Given the description of an element on the screen output the (x, y) to click on. 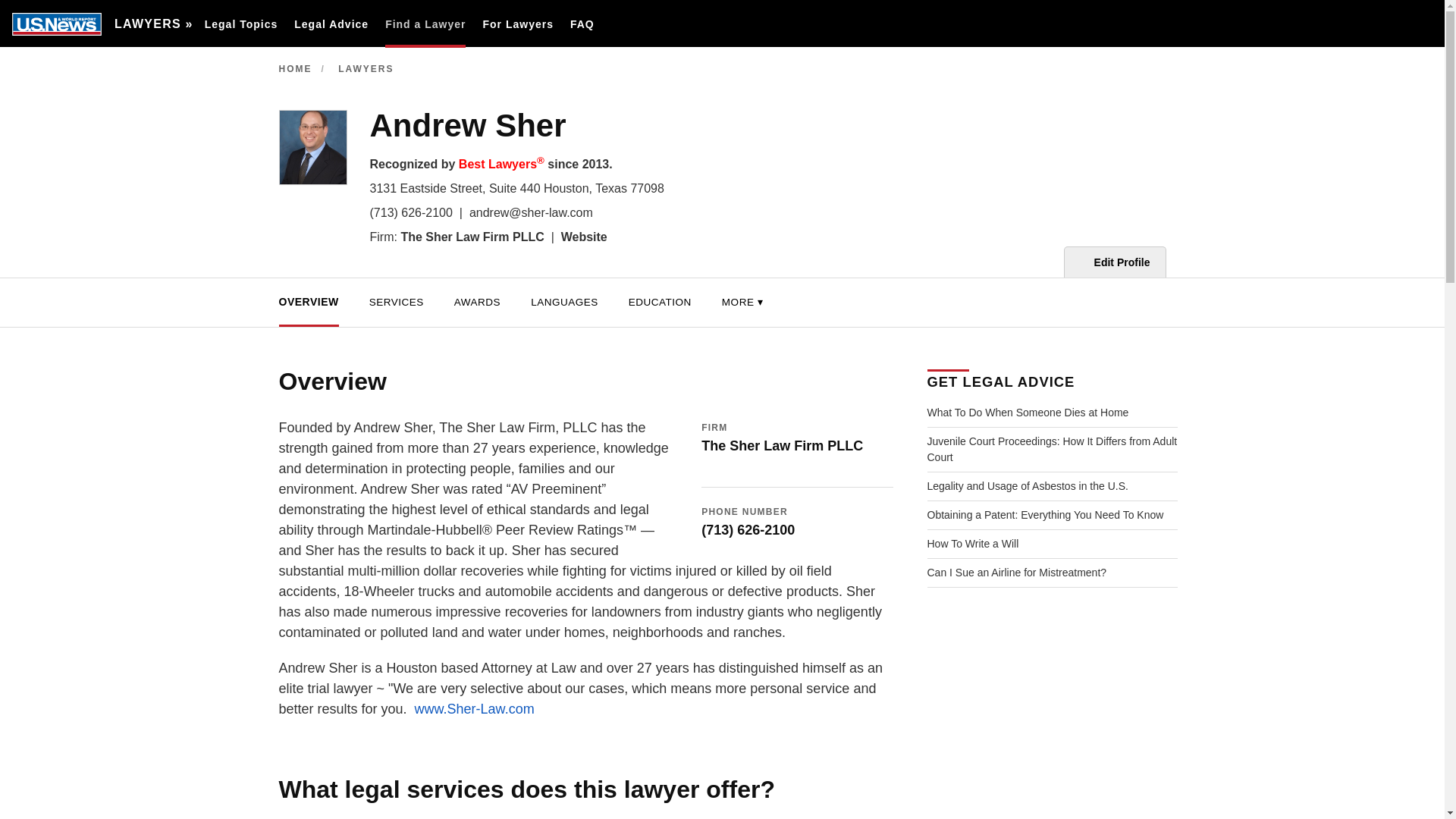
U.S. News (56, 24)
Legal Advice (331, 23)
Legal Topics (241, 23)
For Lawyers (517, 23)
Andrew Sher's Profile Image (313, 147)
Find a Lawyer (425, 23)
